Given the description of an element on the screen output the (x, y) to click on. 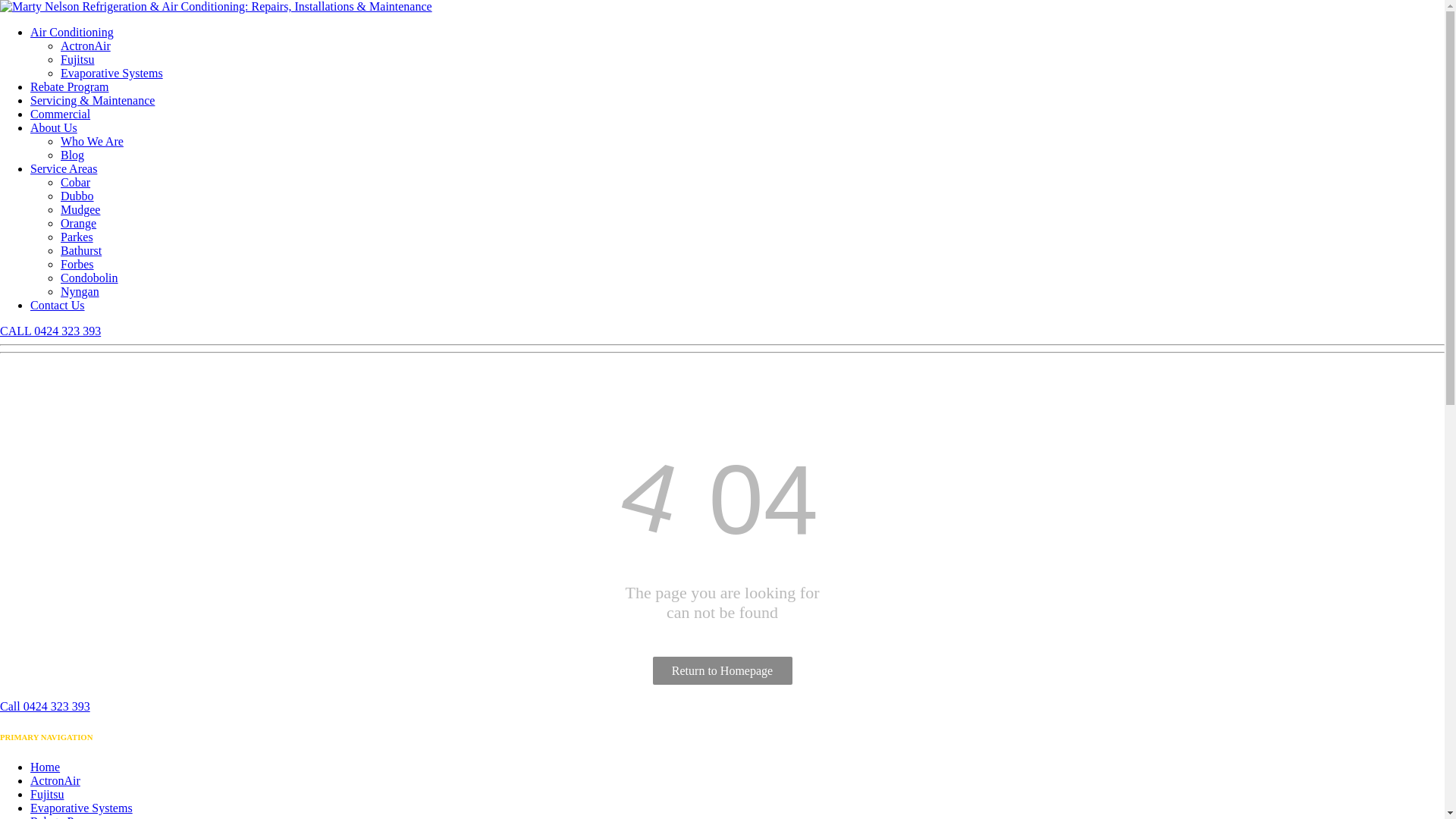
ActronAir Element type: text (55, 780)
Who We Are Element type: text (91, 140)
Orange Element type: text (78, 222)
Blog Element type: text (72, 154)
Contact Us Element type: text (57, 304)
Servicing & Maintenance Element type: text (92, 100)
About Us Element type: text (53, 127)
Call 0424 323 393 Element type: text (45, 705)
Air Conditioning Element type: text (71, 31)
Home Element type: text (44, 766)
Nyngan Element type: text (79, 291)
Fujitsu Element type: text (46, 793)
Cobar Element type: text (75, 181)
Fujitsu Element type: text (77, 59)
Forbes Element type: text (77, 263)
Condobolin Element type: text (89, 277)
Rebate Program Element type: text (69, 86)
Bathurst Element type: text (80, 250)
ActronAir Element type: text (85, 45)
Parkes Element type: text (76, 236)
Evaporative Systems Element type: text (111, 72)
CALL 0424 323 393 Element type: text (50, 330)
Dubbo Element type: text (77, 195)
Evaporative Systems Element type: text (81, 807)
Service Areas Element type: text (63, 168)
Commercial Element type: text (60, 113)
Return to Homepage Element type: text (721, 670)
Mudgee Element type: text (80, 209)
